Given the description of an element on the screen output the (x, y) to click on. 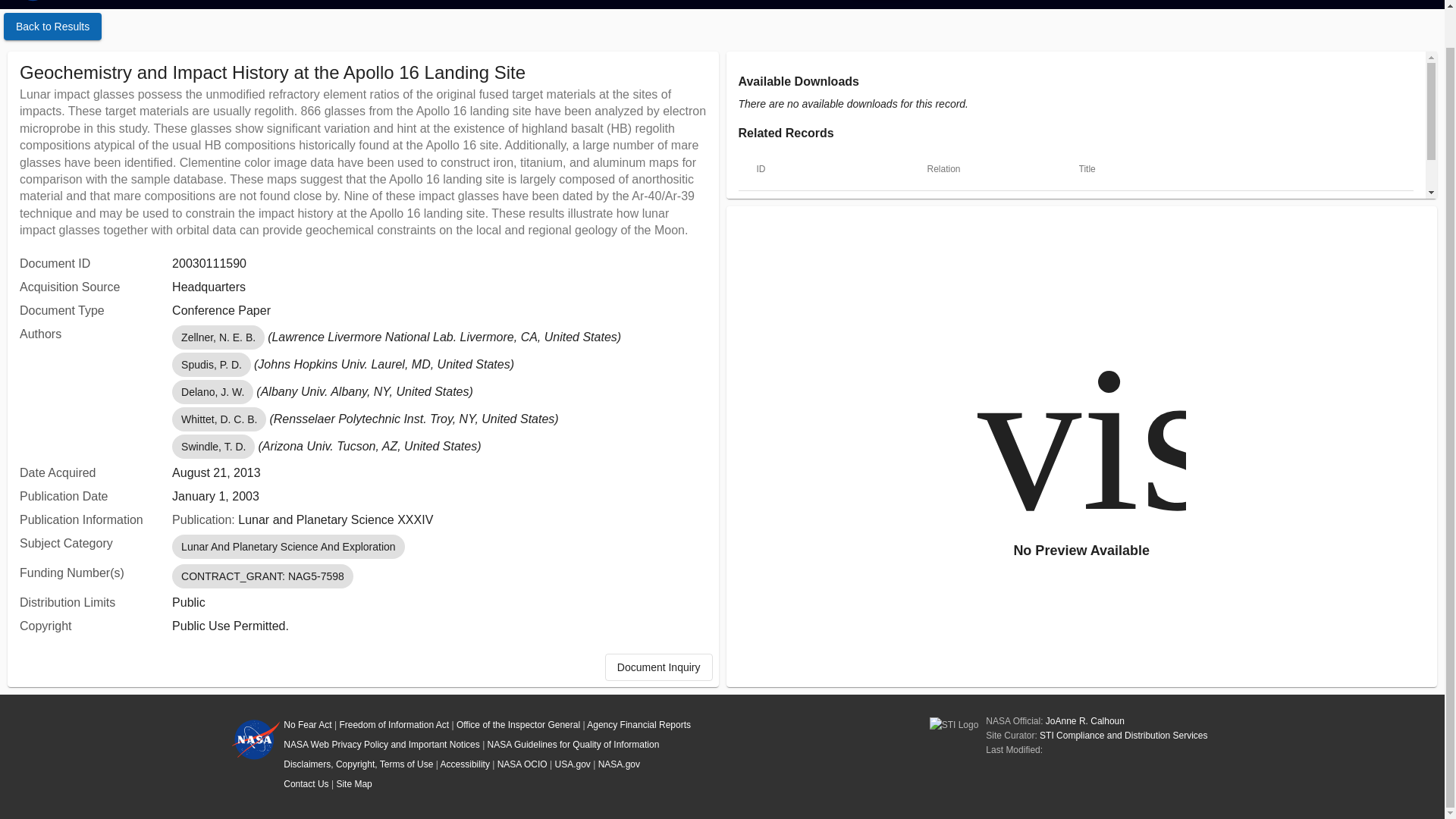
USA.gov (572, 764)
No Fear Act (307, 724)
NASA Guidelines for Quality of Information (573, 744)
NASA.gov (619, 764)
Document Inquiry (659, 666)
Contact Us (306, 783)
Disclaimers, Copyright, Terms of Use (357, 764)
Office of the Inspector General (518, 724)
Freedom of Information Act (393, 724)
20030110578 (789, 209)
Agency Financial Reports (638, 724)
Back to Results (52, 26)
NASA Web Privacy Policy and Important Notices (381, 744)
Accessibility (465, 764)
Site Map (353, 783)
